Given the description of an element on the screen output the (x, y) to click on. 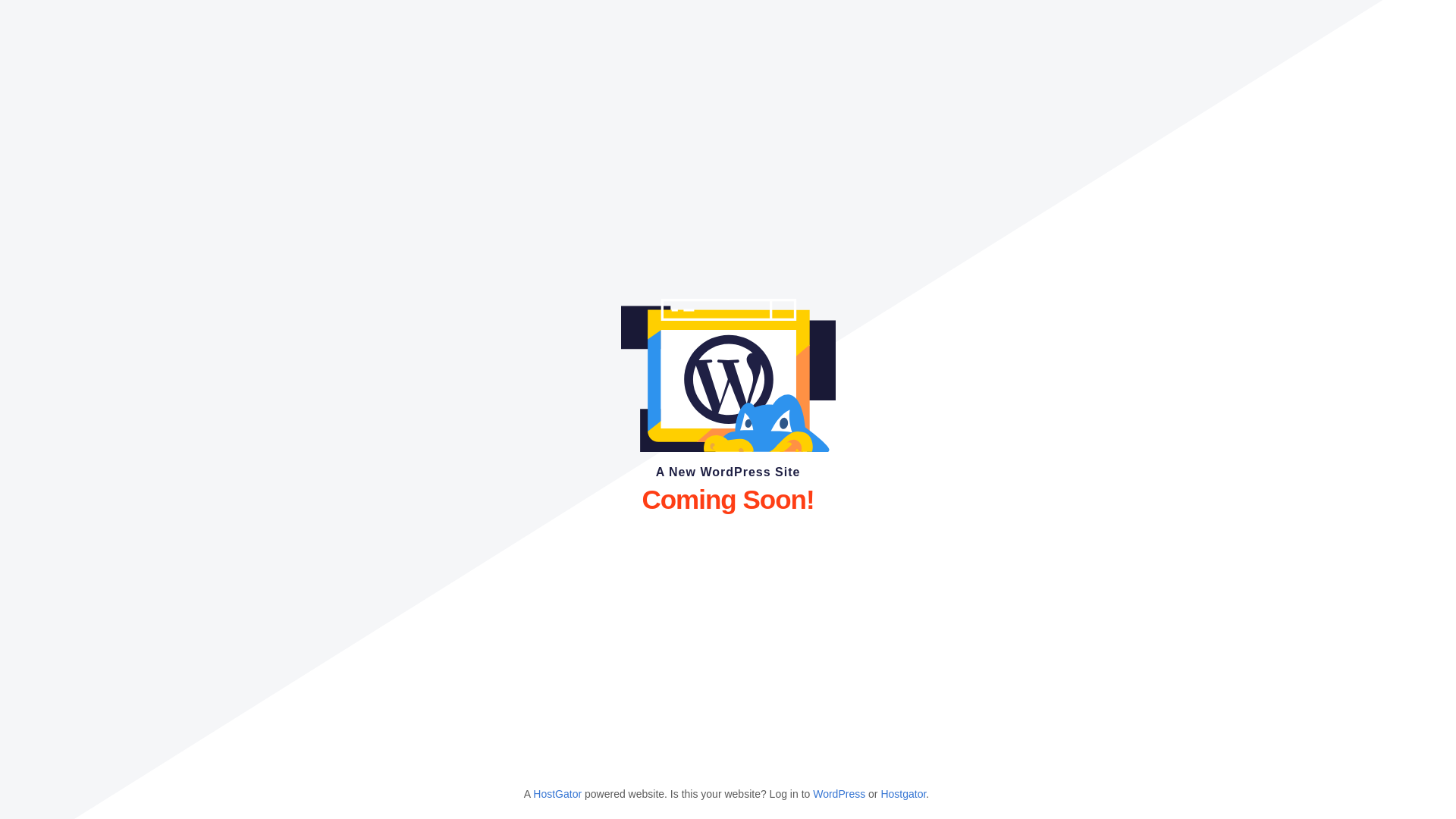
WordPress Element type: text (838, 793)
HostGator Element type: text (557, 793)
Hostgator Element type: text (902, 793)
